Given the description of an element on the screen output the (x, y) to click on. 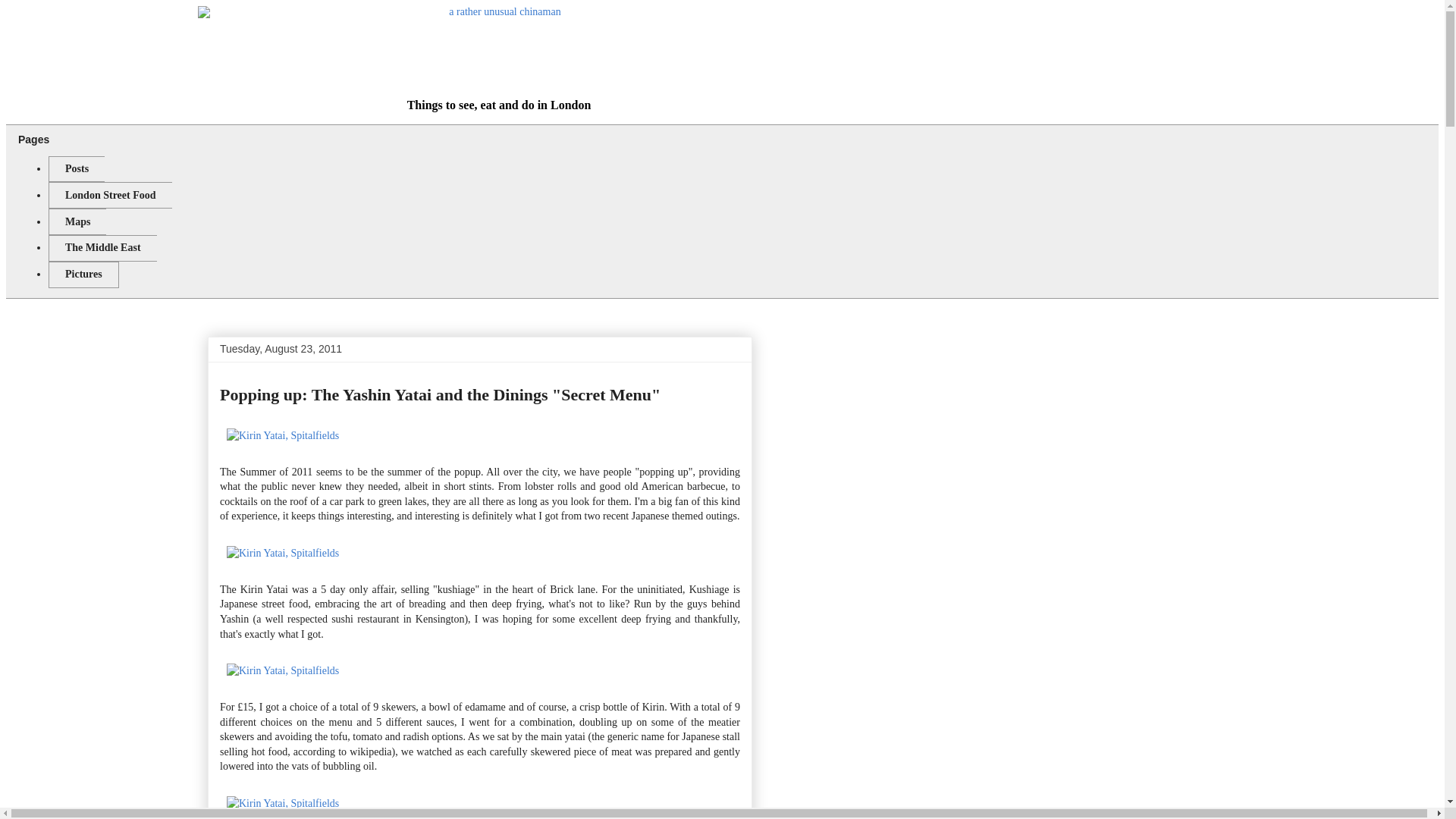
Kirin Yatai, Spitalfields by tehbus, on Flickr (282, 803)
Kirin Yatai, Spitalfields by tehbus, on Flickr (282, 435)
Posts (76, 169)
Pictures (83, 274)
Kirin Yatai, Spitalfields by tehbus, on Flickr (282, 552)
Maps (77, 221)
Kirin Yatai, Spitalfields by tehbus, on Flickr (282, 670)
London Street Food (109, 194)
The Middle East (102, 248)
